Given the description of an element on the screen output the (x, y) to click on. 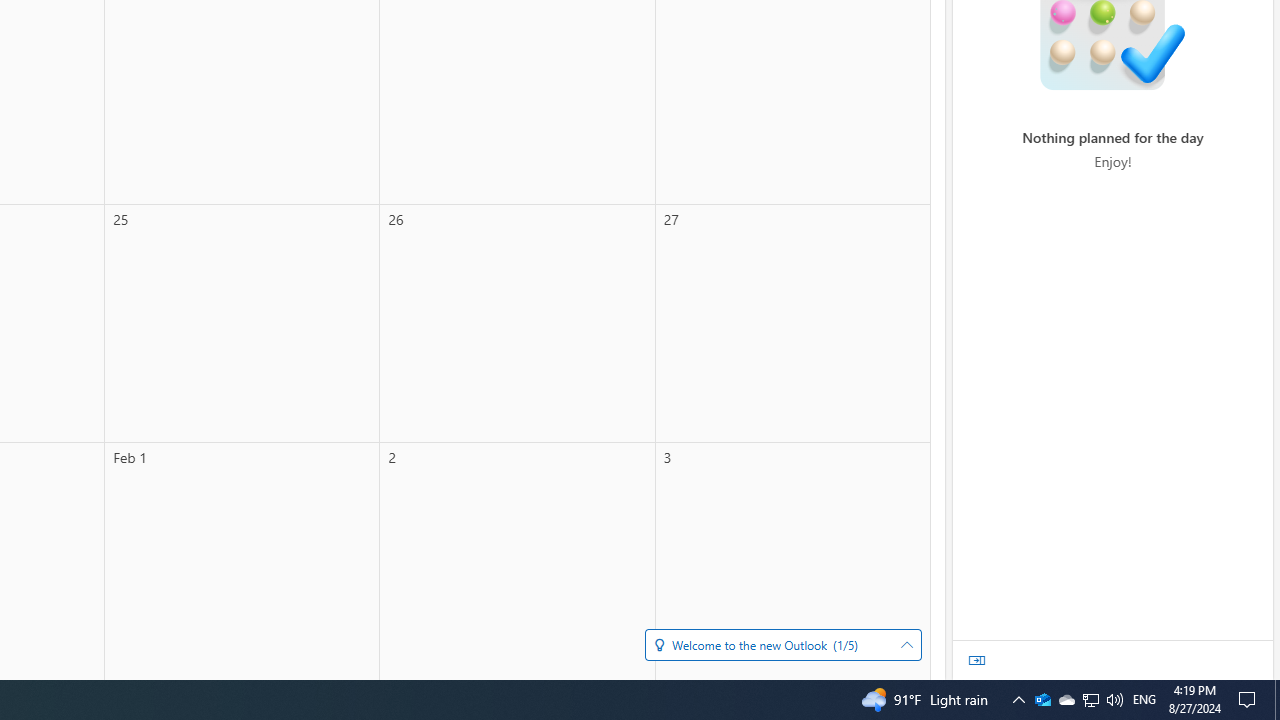
Toggle agenda pane (977, 660)
